Given the description of an element on the screen output the (x, y) to click on. 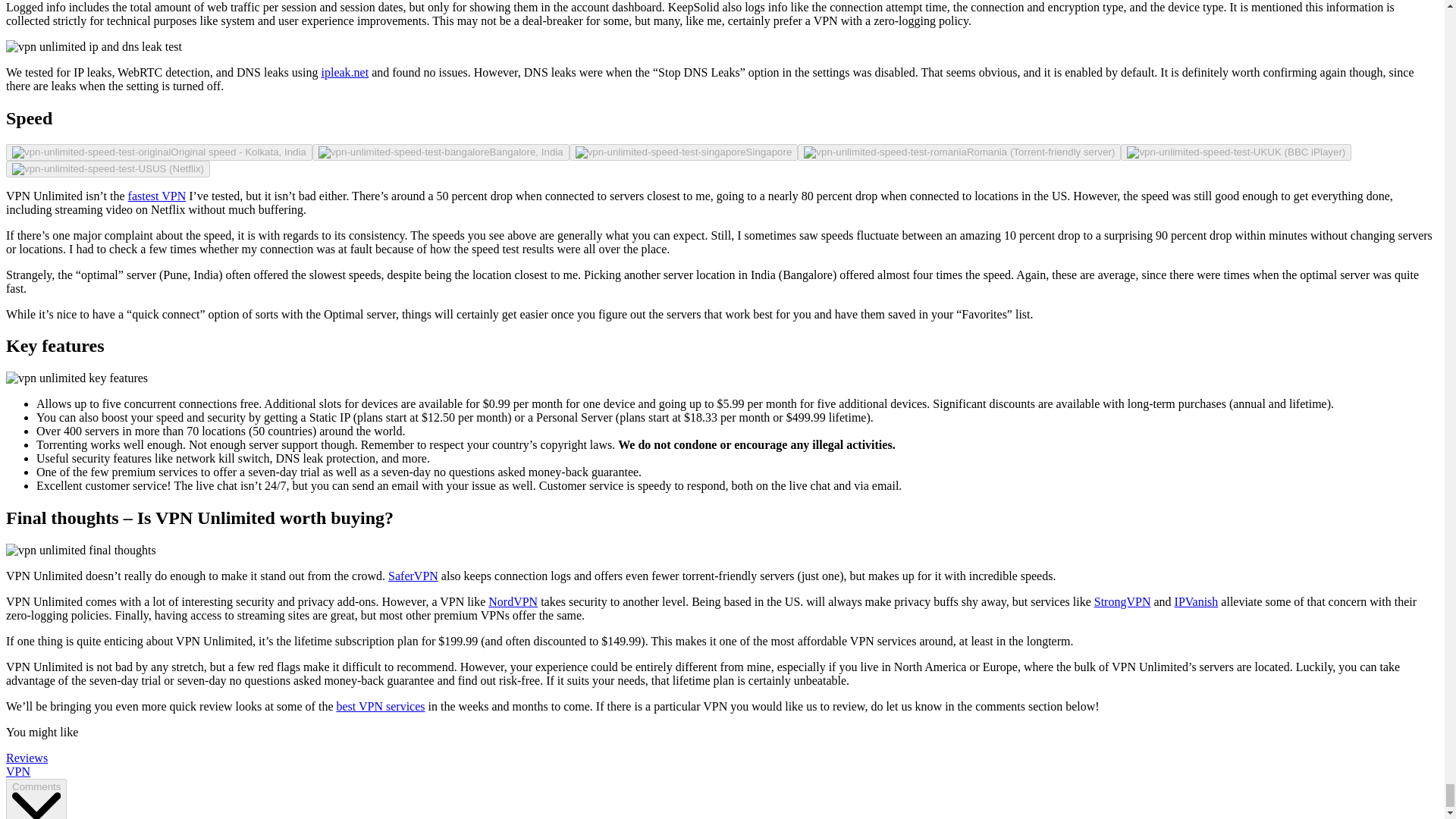
fastest VPN (157, 195)
StrongVPN (1122, 601)
ipleak.net (345, 72)
SaferVPN (413, 575)
Reviews (26, 757)
vpn-unlimited-review-12 (93, 47)
Original speed - Kolkata, India (159, 152)
IPVanish (1196, 601)
VPN (17, 771)
Bangalore, India (441, 152)
